Given the description of an element on the screen output the (x, y) to click on. 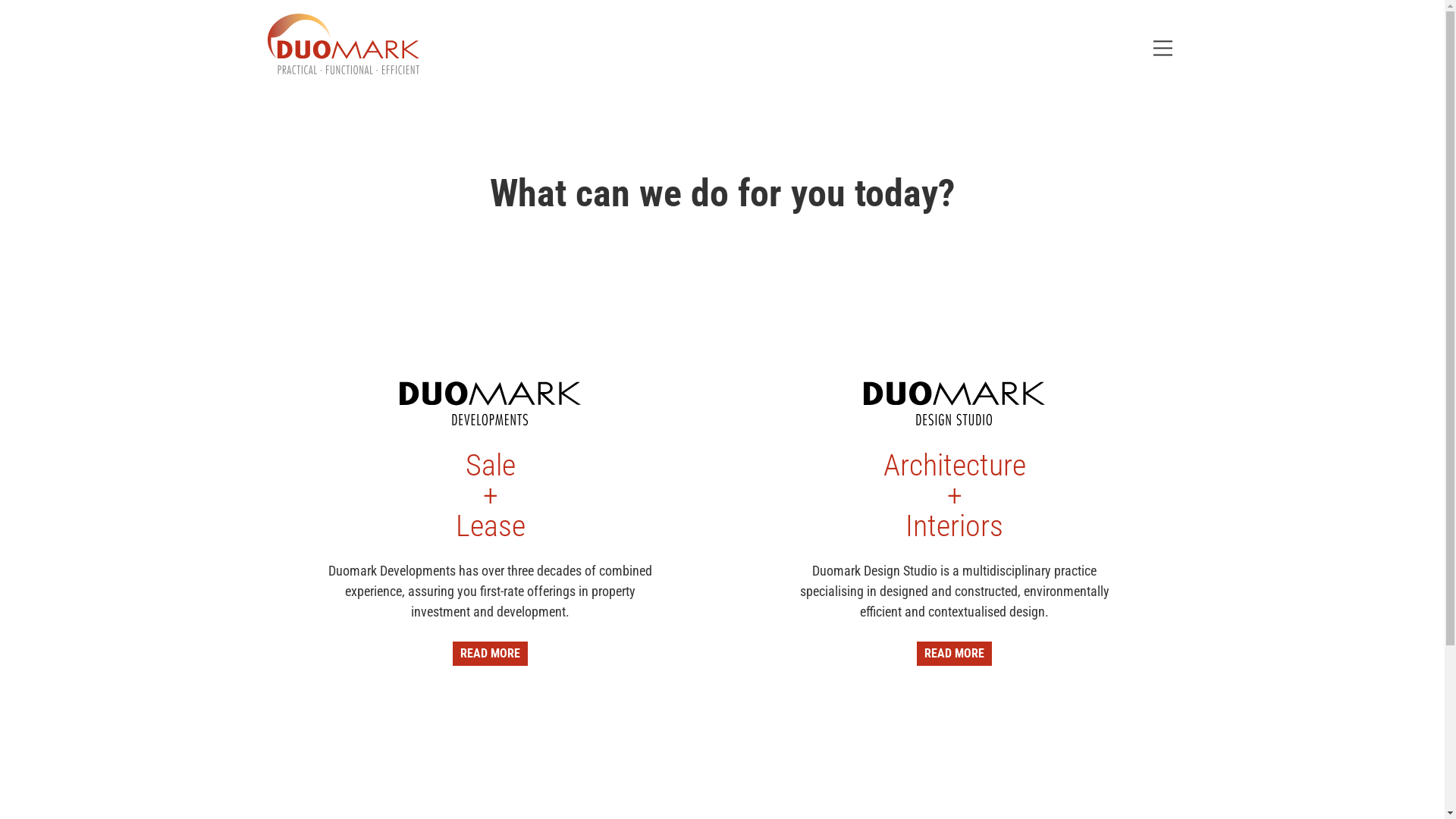
Duomark Element type: hover (342, 43)
Duomark Developments Element type: hover (489, 403)
READ MORE Element type: text (953, 653)
Duomark Design Studio Element type: hover (953, 403)
READ MORE Element type: text (489, 653)
